Given the description of an element on the screen output the (x, y) to click on. 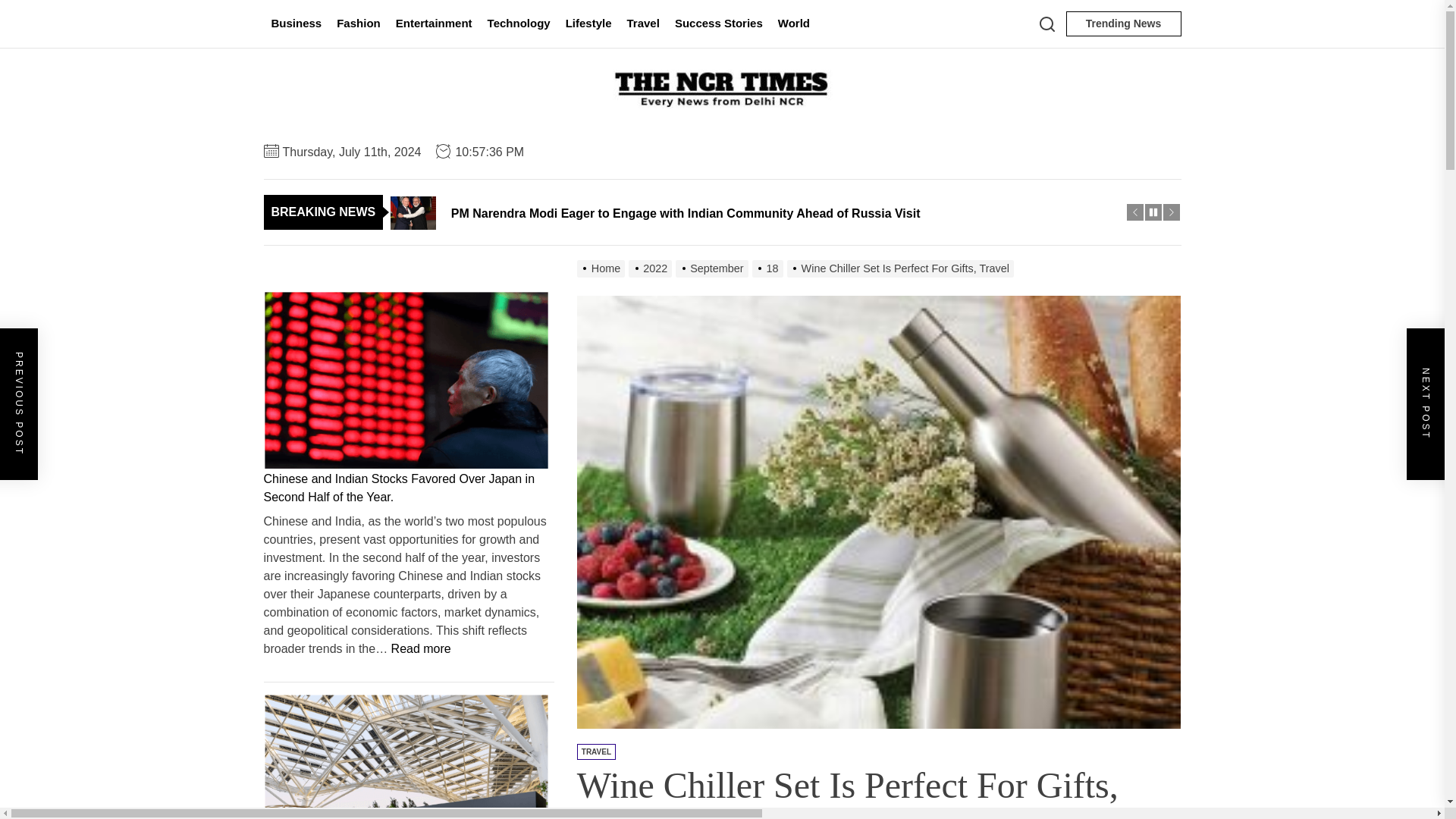
Entertainment (434, 23)
Fashion (358, 23)
World (793, 23)
Trending News (1122, 23)
Success Stories (718, 23)
Travel (642, 23)
Business (296, 23)
Lifestyle (588, 23)
Technology (518, 23)
